Given the description of an element on the screen output the (x, y) to click on. 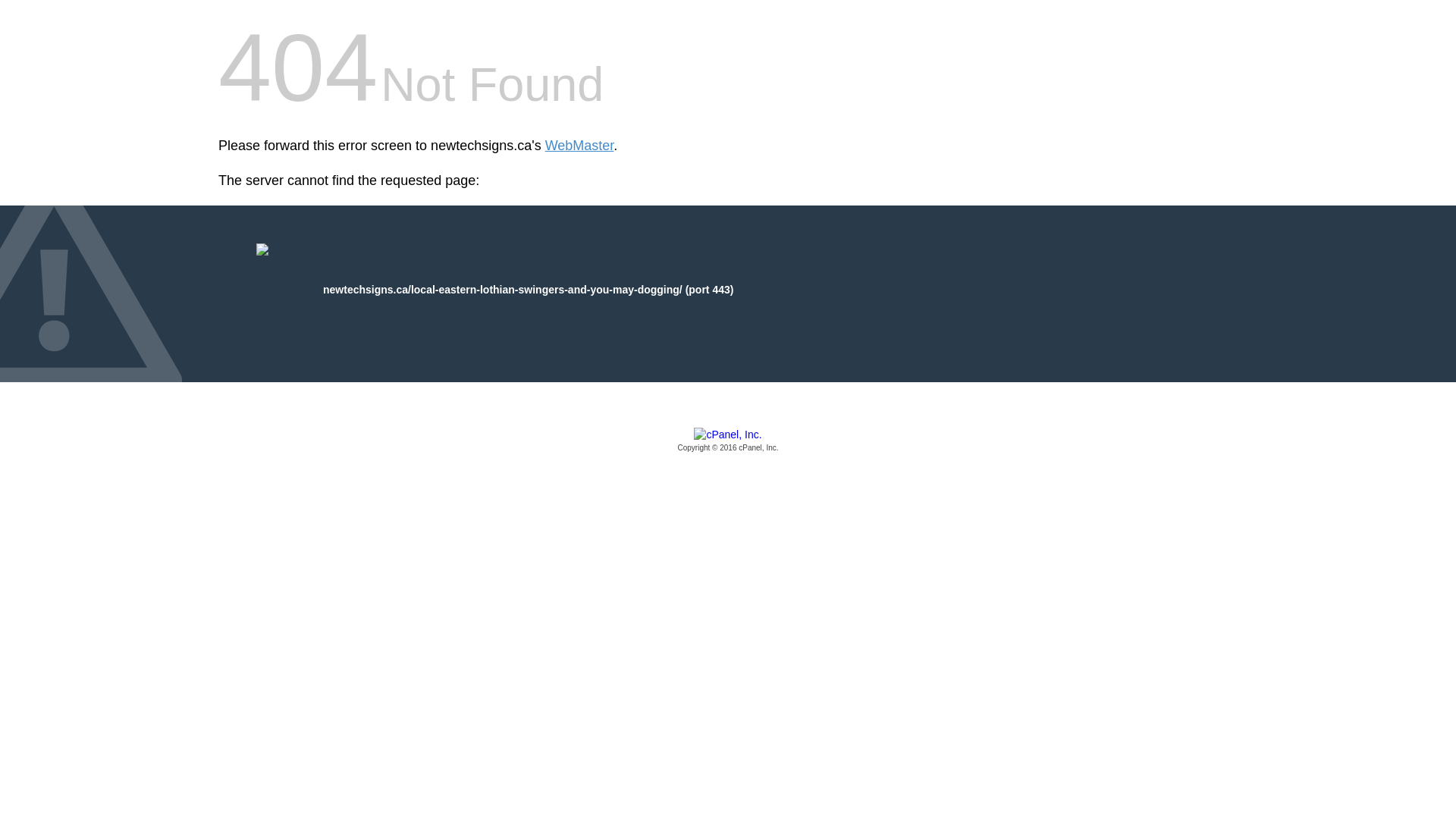
WebMaster (579, 145)
cPanel, Inc. (727, 440)
